Given the description of an element on the screen output the (x, y) to click on. 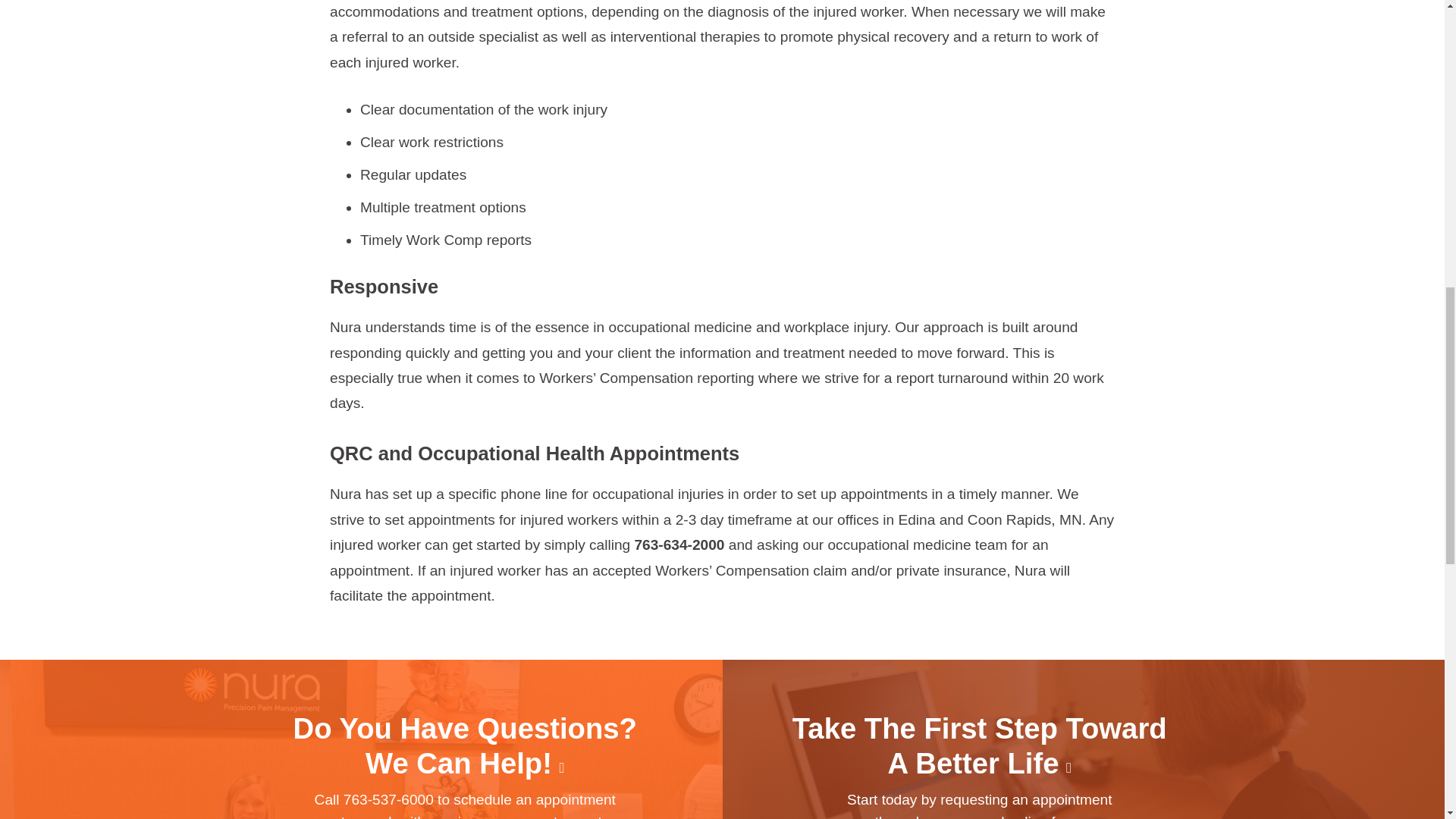
Page 2 (722, 544)
